Given the description of an element on the screen output the (x, y) to click on. 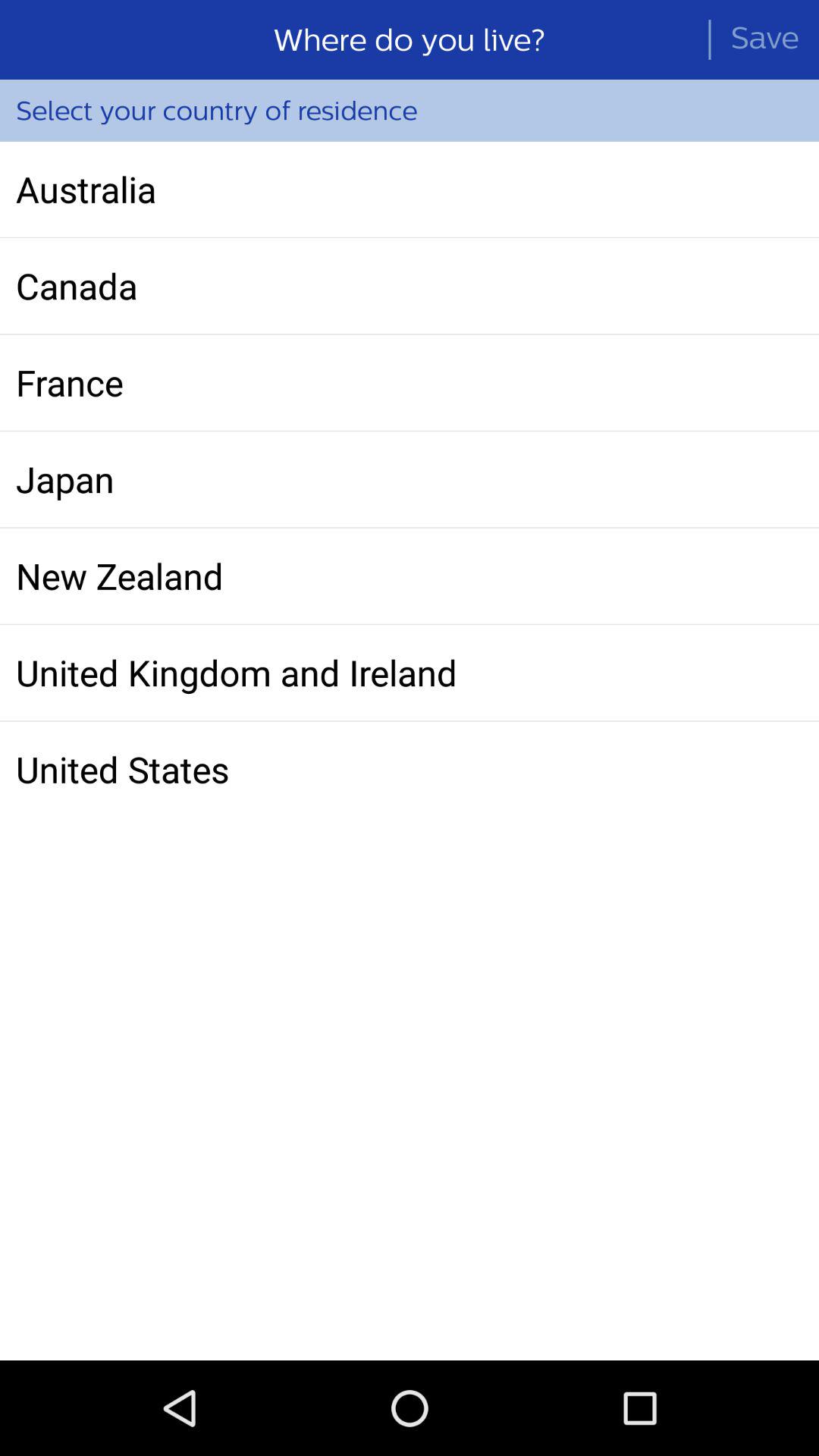
press the icon below canada item (409, 382)
